Given the description of an element on the screen output the (x, y) to click on. 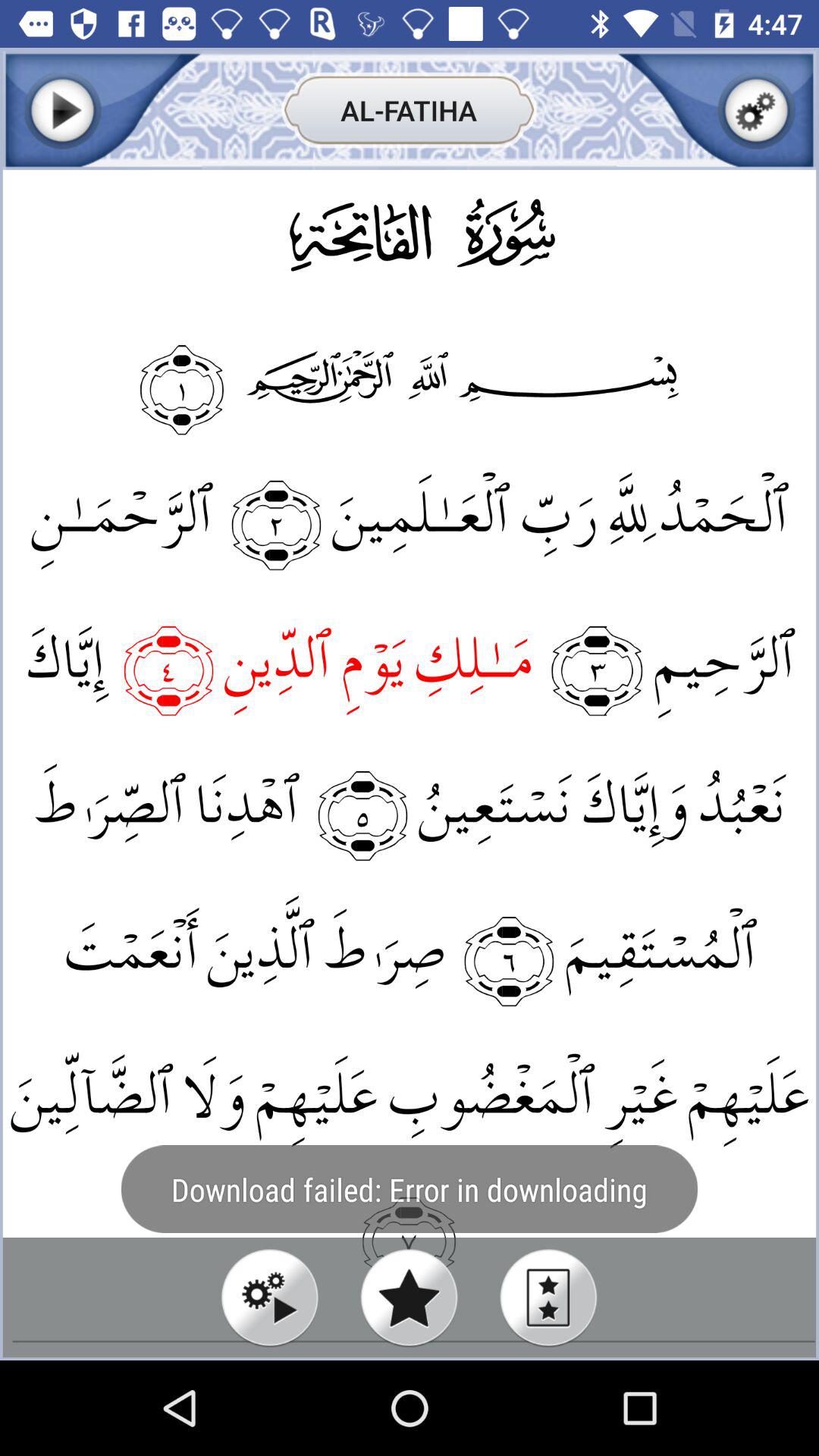
go to settings (756, 110)
